Given the description of an element on the screen output the (x, y) to click on. 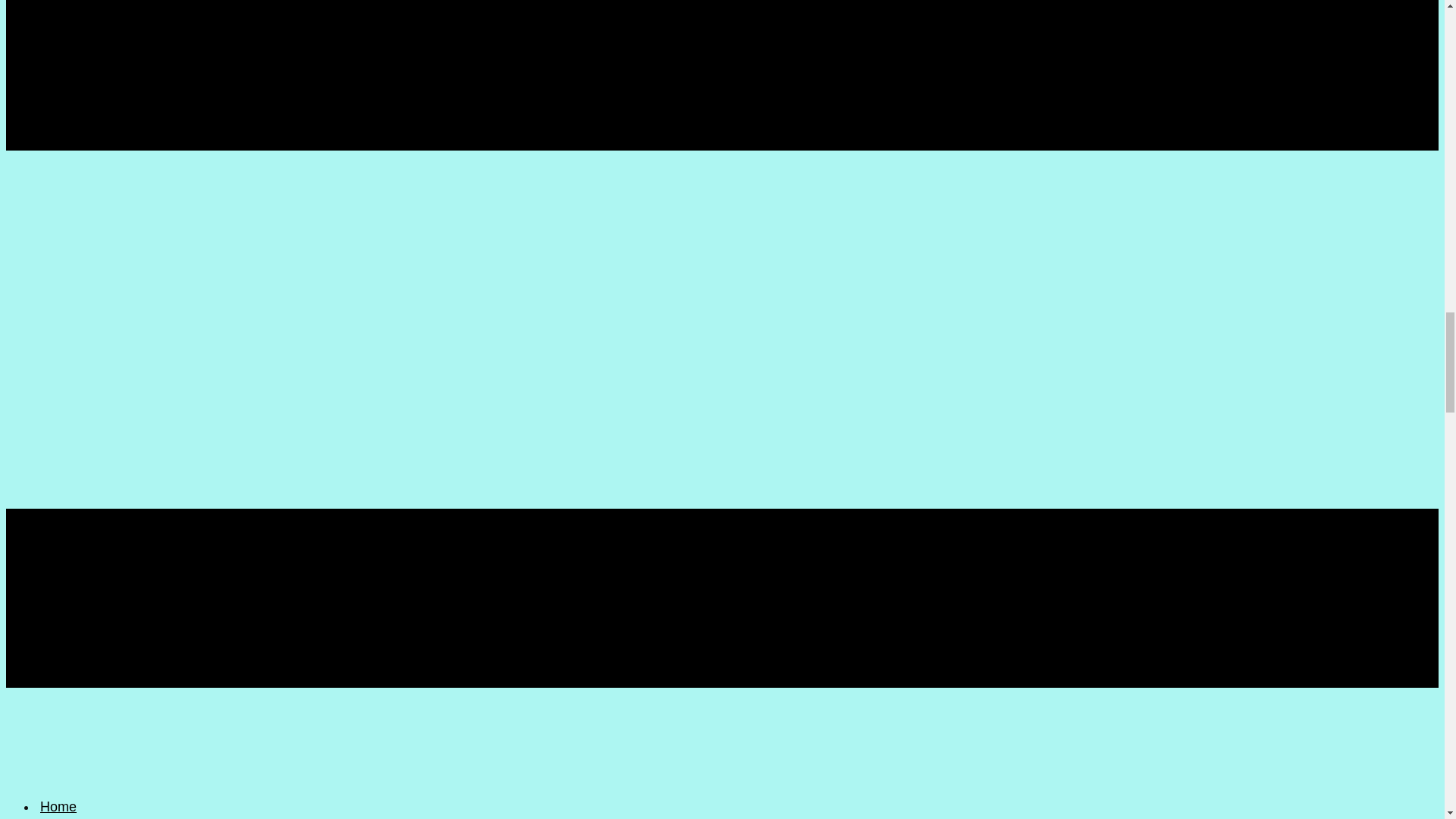
Online Services (87, 816)
Home (58, 805)
